Given the description of an element on the screen output the (x, y) to click on. 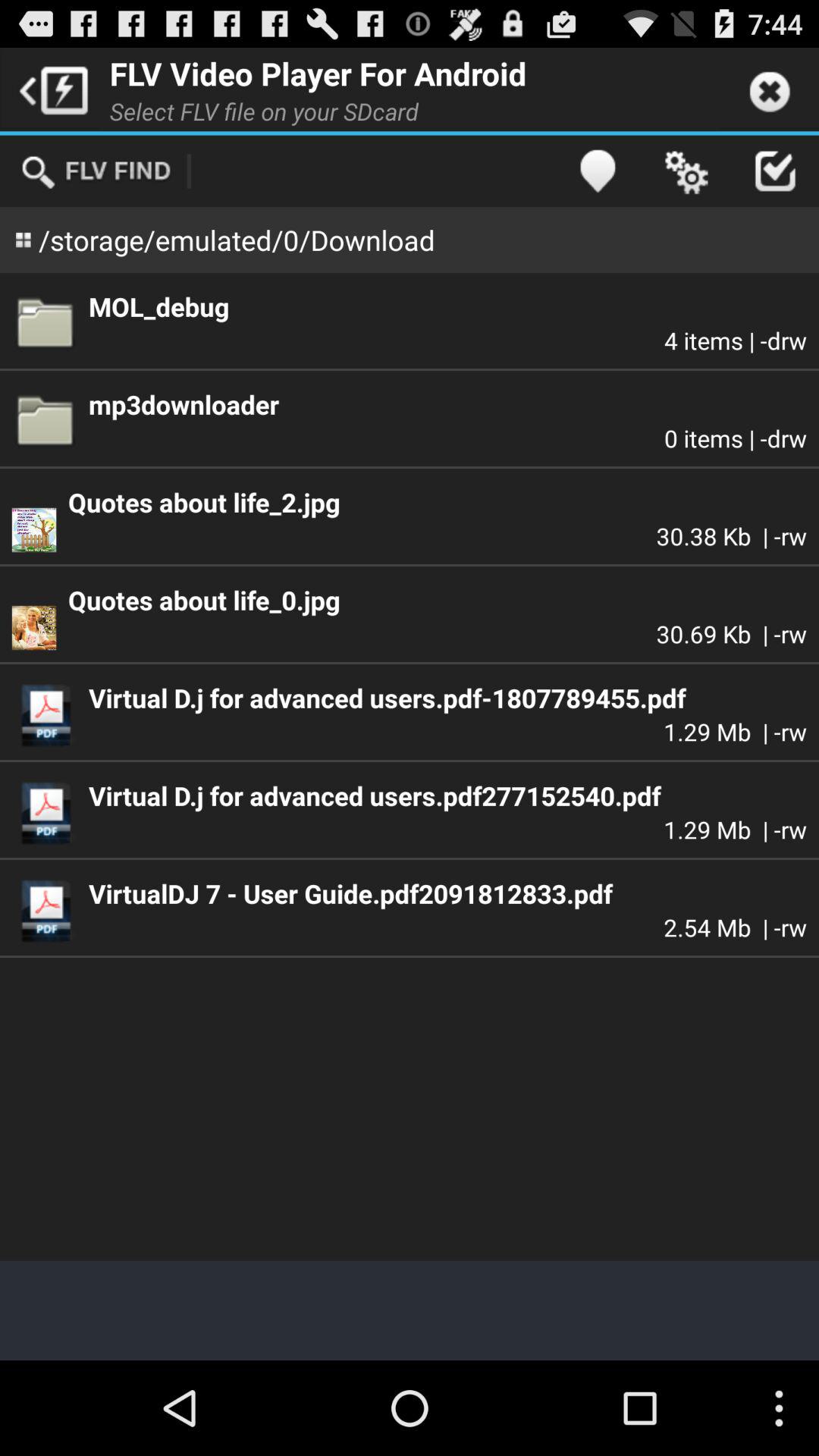
press the item above storage emulated 0 (95, 171)
